Given the description of an element on the screen output the (x, y) to click on. 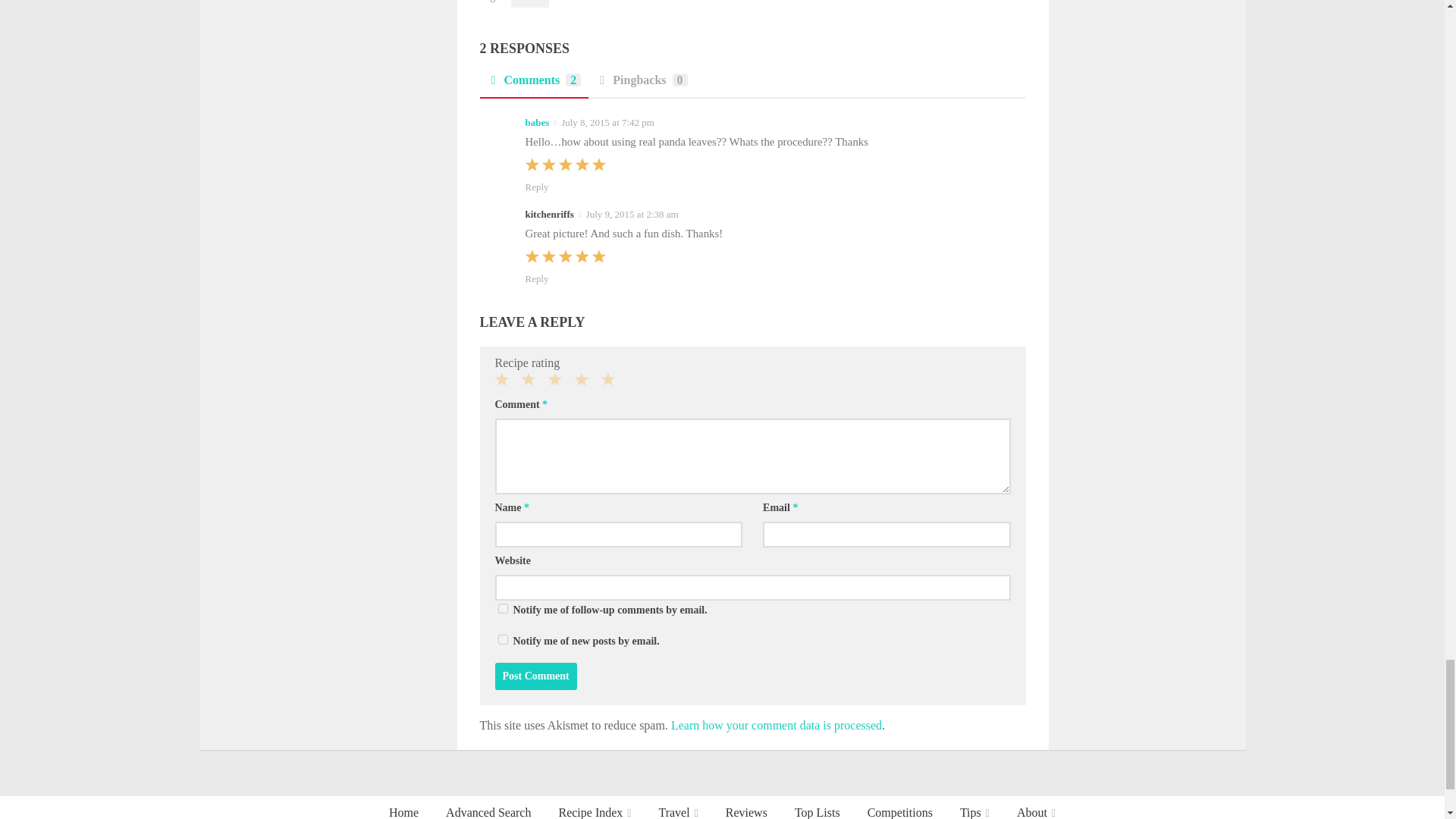
subscribe (501, 608)
subscribe (501, 639)
Post Comment (535, 676)
